Given the description of an element on the screen output the (x, y) to click on. 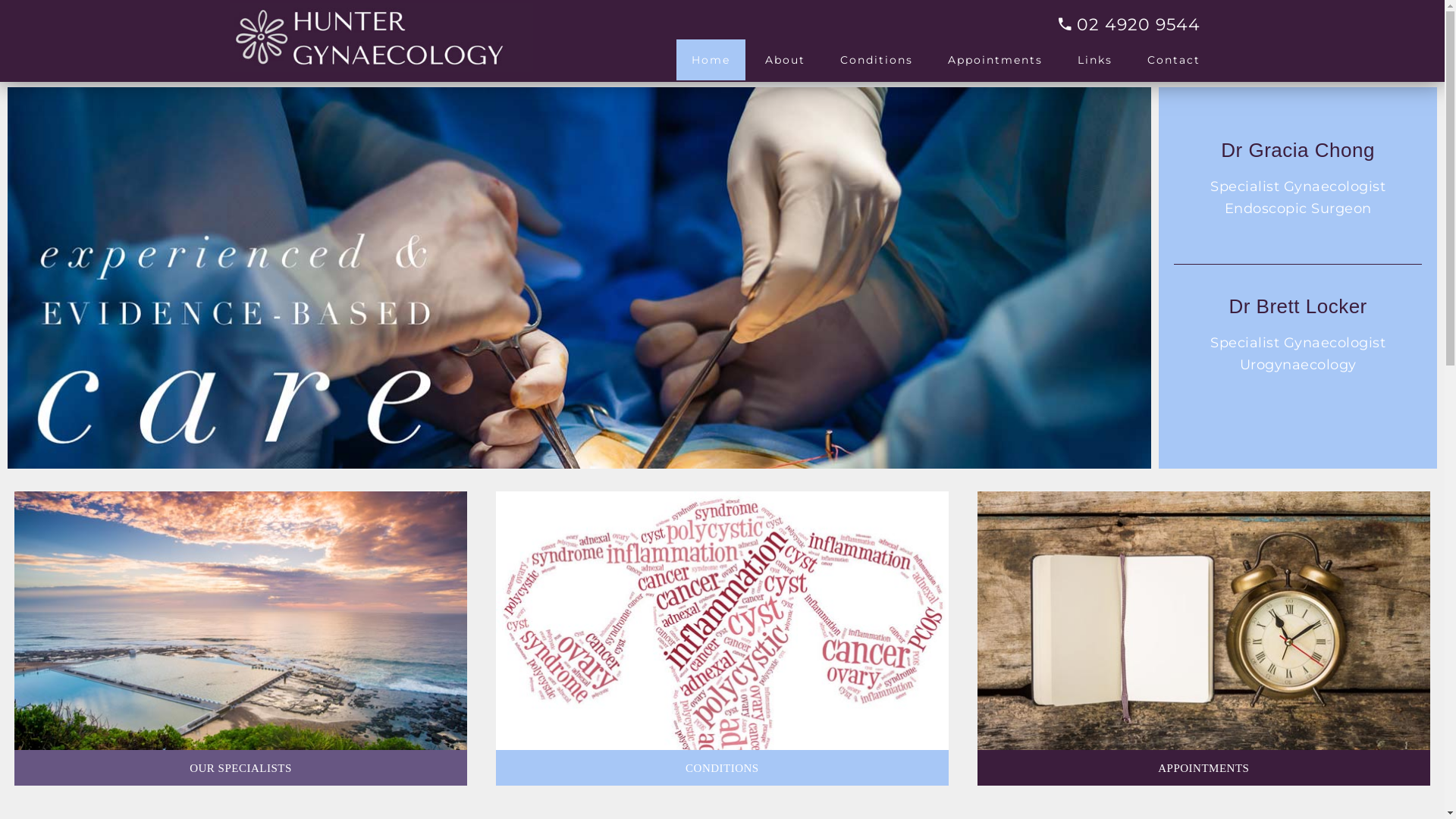
Appointments Element type: text (994, 59)
02 4920 9544 Element type: text (1145, 24)
CONDITIONS Element type: text (722, 768)
About Element type: text (784, 59)
Conditions Element type: text (876, 59)
Contact Element type: text (1172, 59)
Home Element type: text (710, 59)
OUR SPECIALISTS Element type: text (240, 768)
Links Element type: text (1093, 59)
HUNTER GYNAECOLOGY Element type: text (380, 37)
APPOINTMENTS Element type: text (1202, 768)
